Given the description of an element on the screen output the (x, y) to click on. 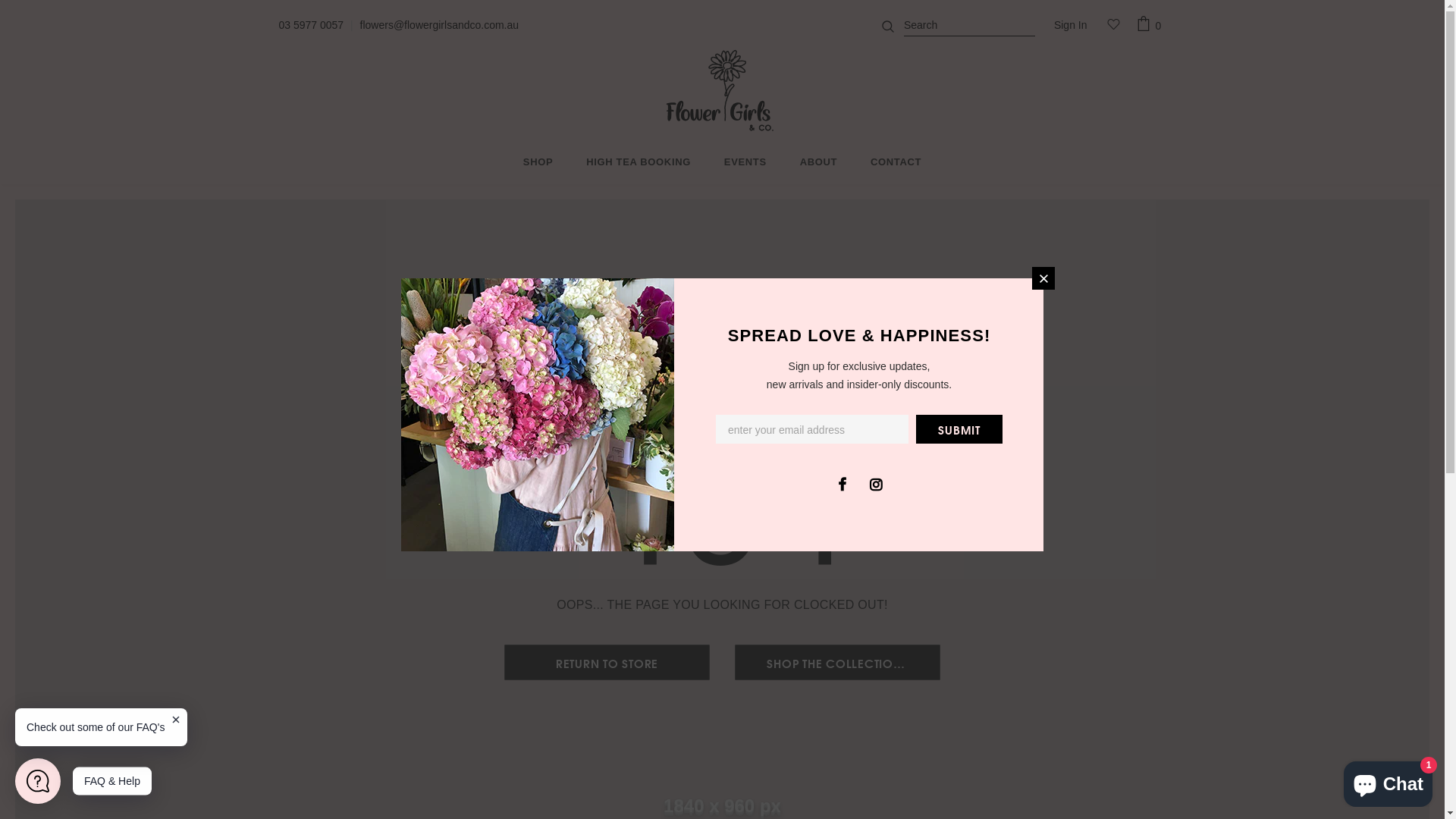
0 Element type: text (1150, 24)
Instagram Element type: hover (875, 482)
SHOP THE COLLECTIONS Element type: text (836, 662)
ABOUT Element type: text (818, 164)
CONTACT Element type: text (895, 164)
Sign In Element type: text (1070, 25)
Close Element type: hover (1043, 277)
Logo Element type: hover (722, 90)
RETURN TO STORE Element type: text (607, 662)
Submit Element type: text (959, 428)
SHOP Element type: text (537, 164)
Shopify online store chat Element type: hover (1388, 780)
Facebook Element type: hover (841, 482)
HIGH TEA BOOKING Element type: text (638, 164)
EVENTS Element type: text (745, 164)
